Given the description of an element on the screen output the (x, y) to click on. 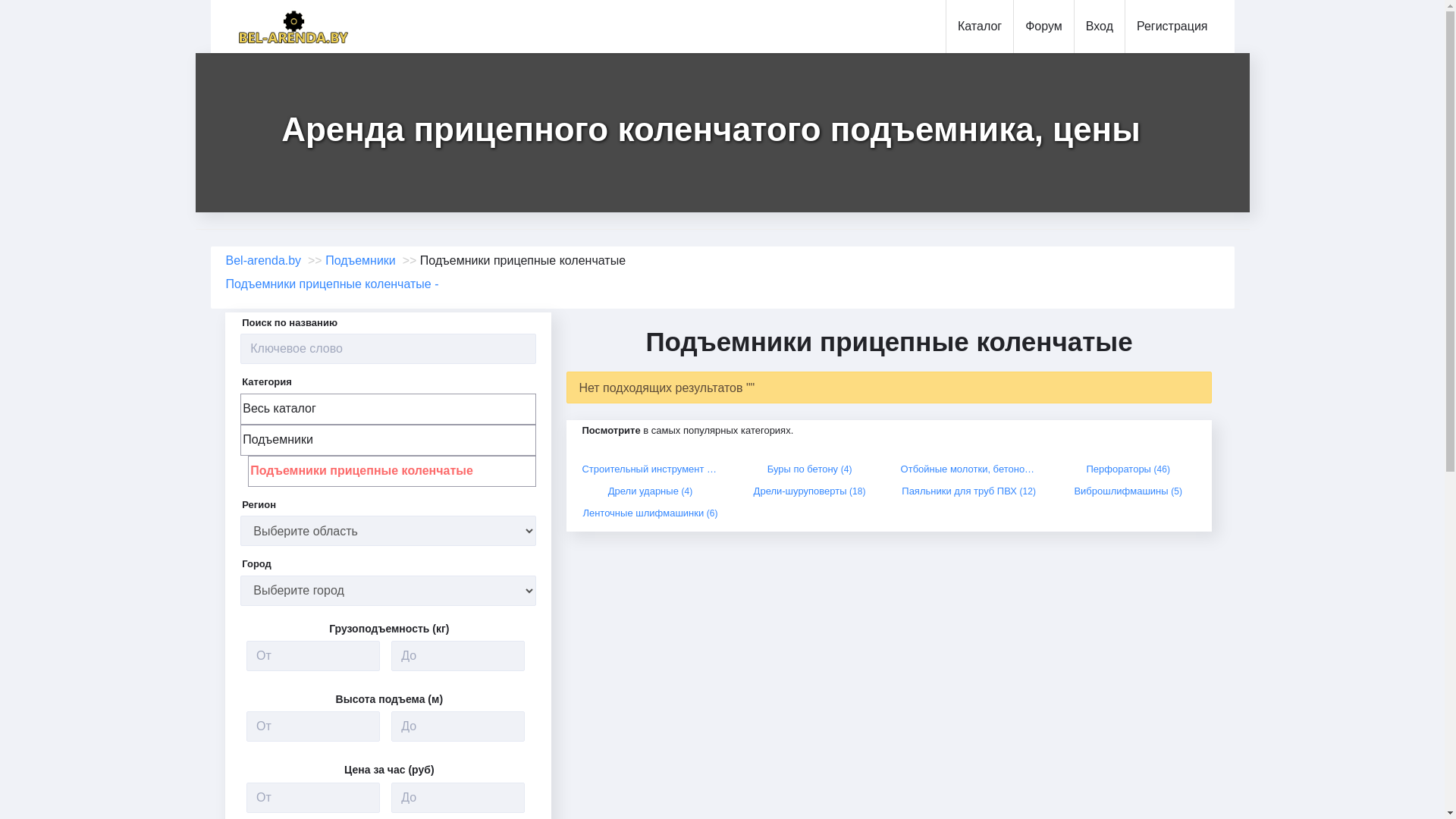
Bel-arenda.by Element type: text (263, 260)
